Given the description of an element on the screen output the (x, y) to click on. 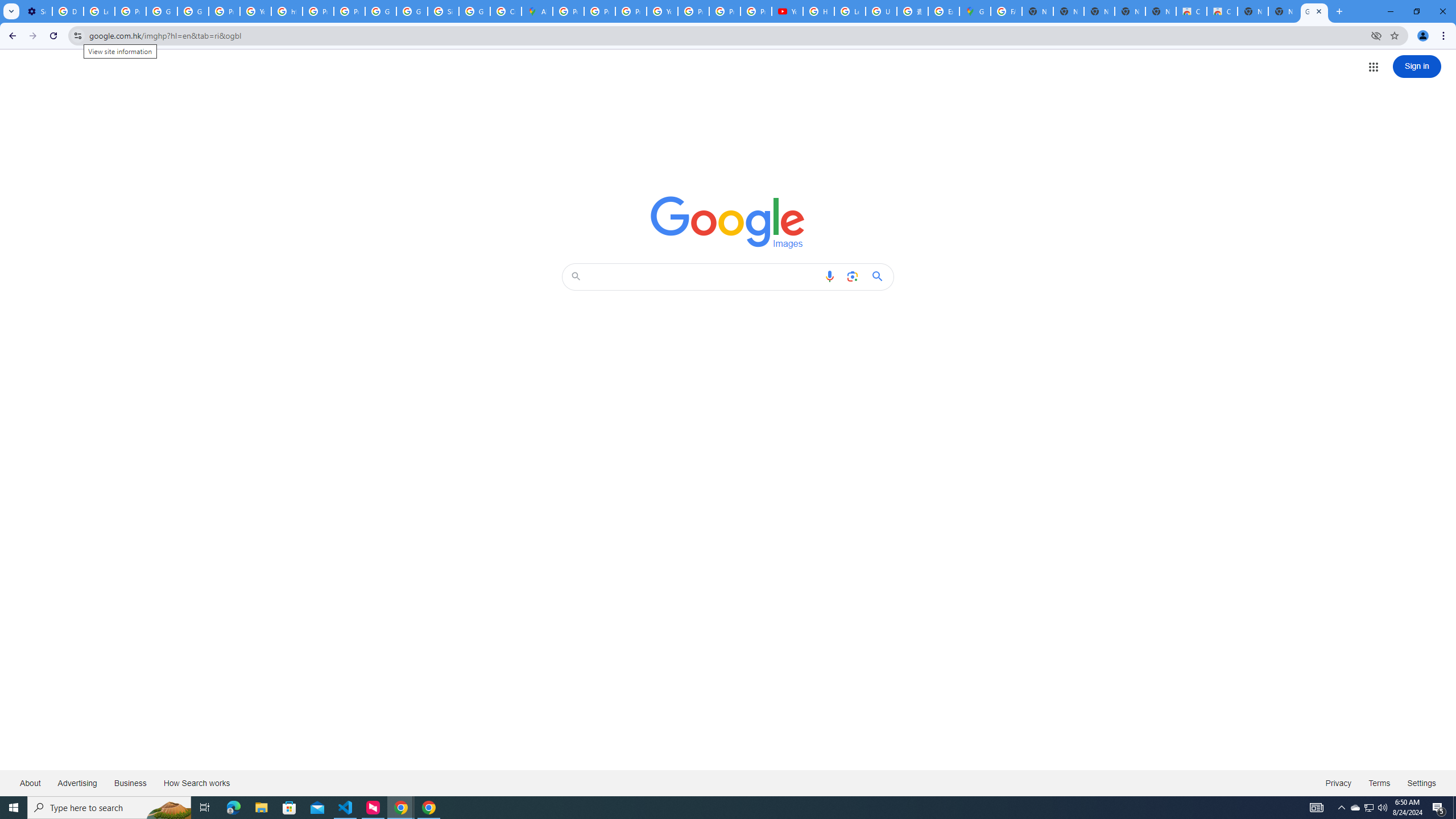
Business (129, 782)
How Chrome protects your passwords - Google Chrome Help (818, 11)
Privacy Checkup (756, 11)
Google Search (880, 276)
Google Account Help (161, 11)
